Given the description of an element on the screen output the (x, y) to click on. 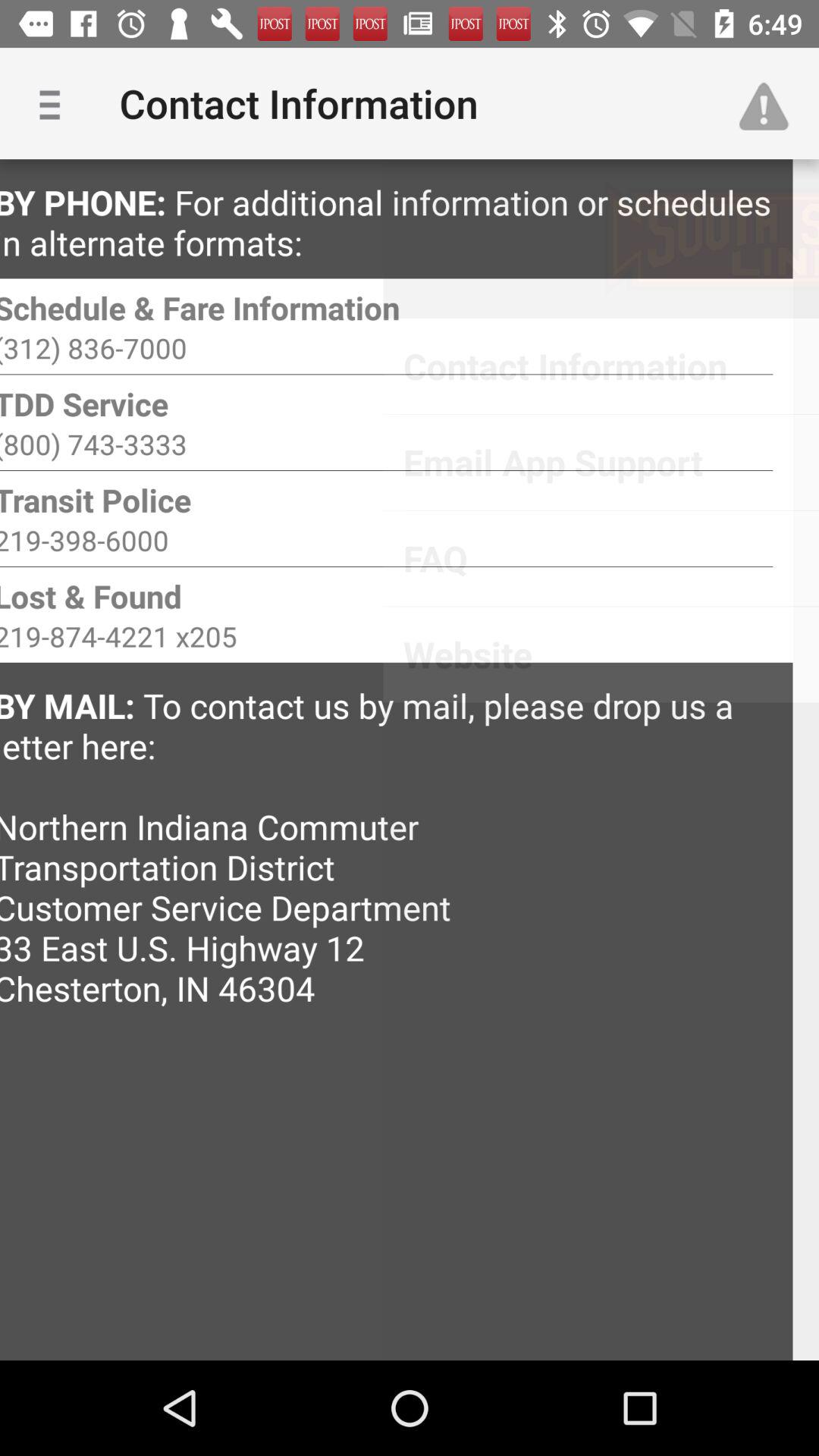
turn off app next to contact information (771, 103)
